Given the description of an element on the screen output the (x, y) to click on. 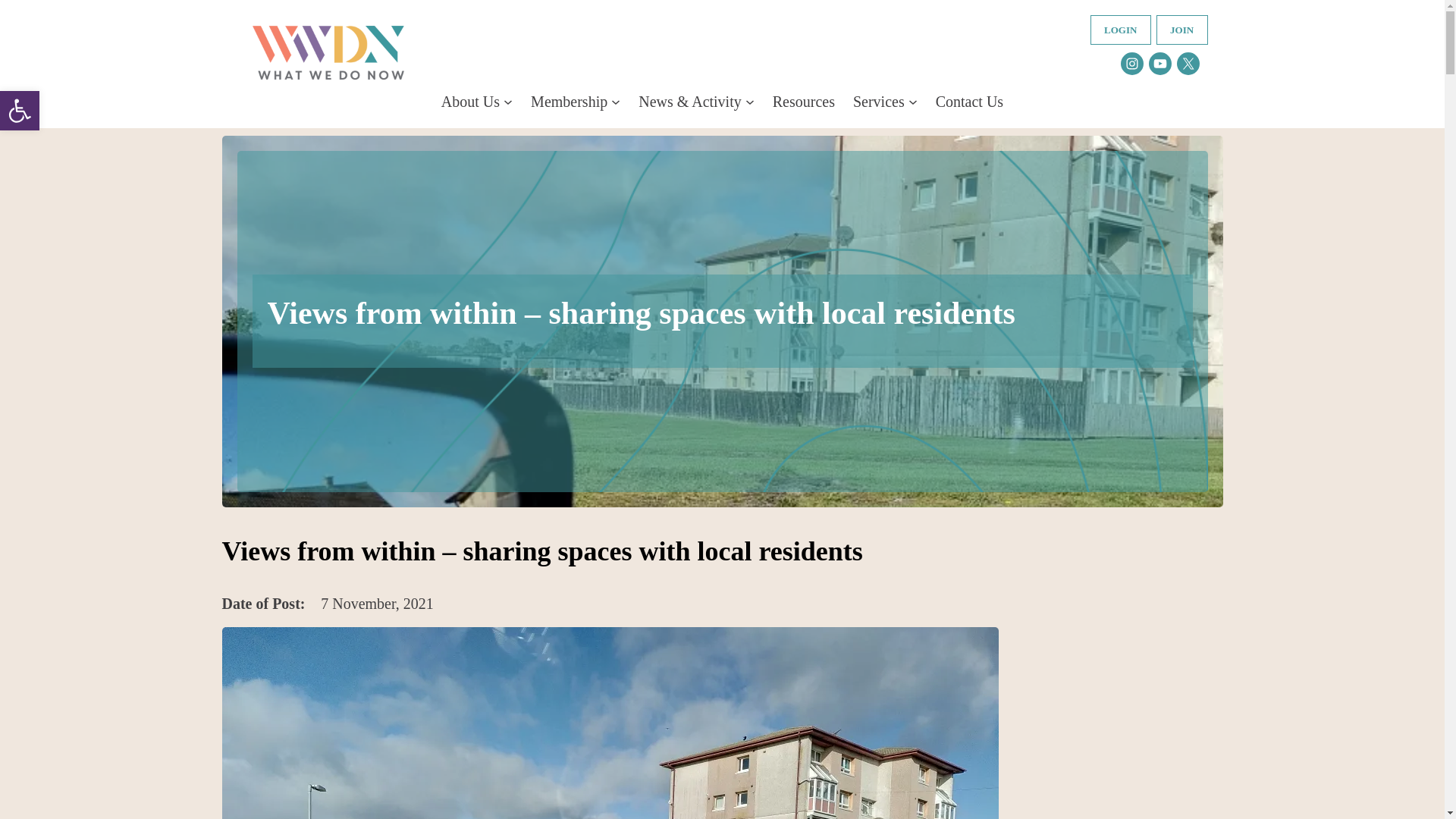
YouTube (1160, 63)
Accessibility Tools (19, 110)
LOGIN (1120, 30)
Resources (803, 101)
About Us (470, 101)
JOIN (1182, 30)
X (1187, 63)
